Given the description of an element on the screen output the (x, y) to click on. 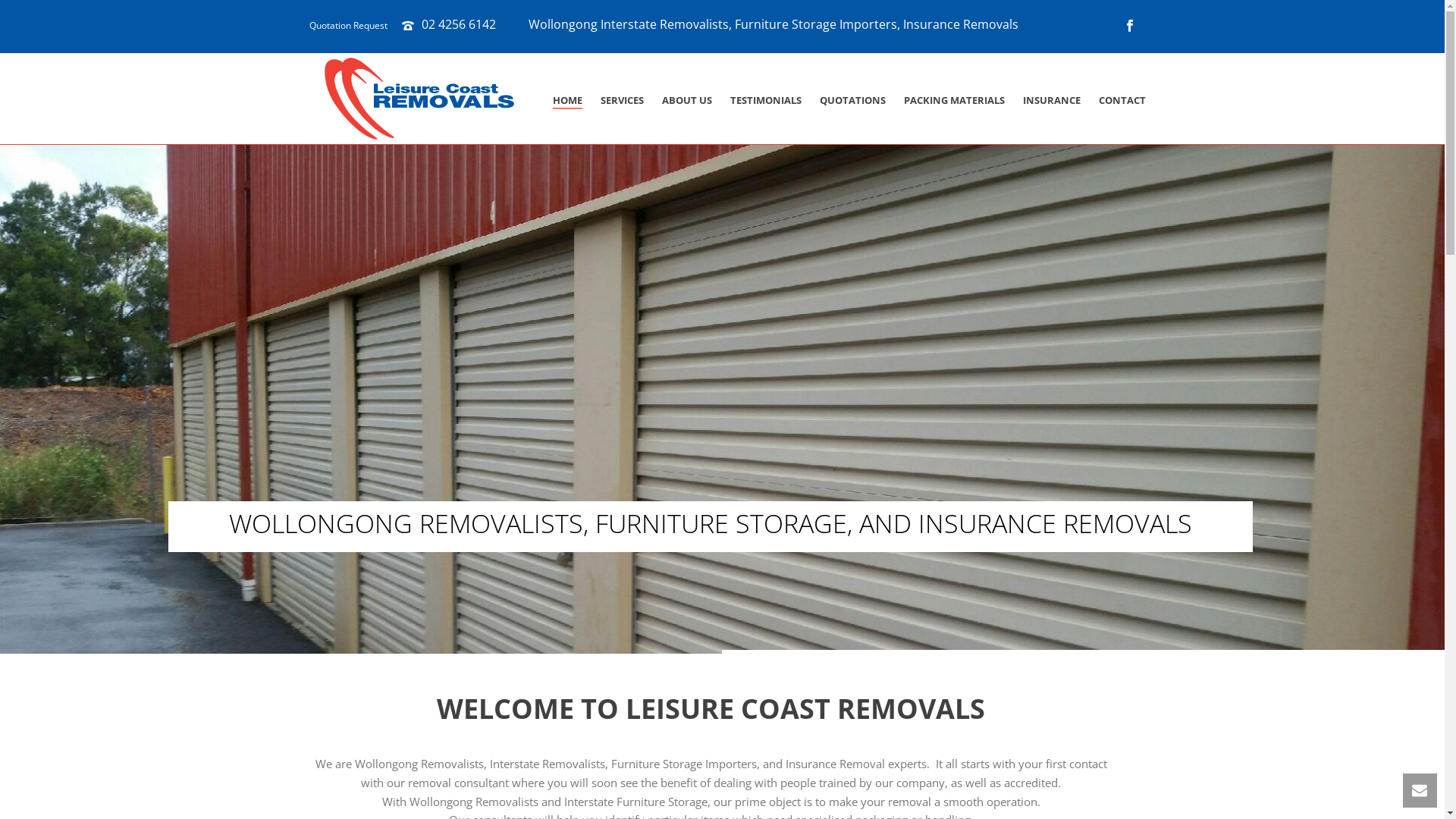
CONTACT Element type: text (1121, 100)
02 4256 6142 Element type: text (458, 23)
QUOTATIONS Element type: text (851, 100)
HOME Element type: text (566, 100)
ABOUT US Element type: text (686, 100)
PACKING MATERIALS Element type: text (953, 100)
TESTIMONIALS Element type: text (764, 100)
SERVICES Element type: text (621, 100)
Quotation Request Element type: text (347, 25)
INSURANCE Element type: text (1050, 100)
